Given the description of an element on the screen output the (x, y) to click on. 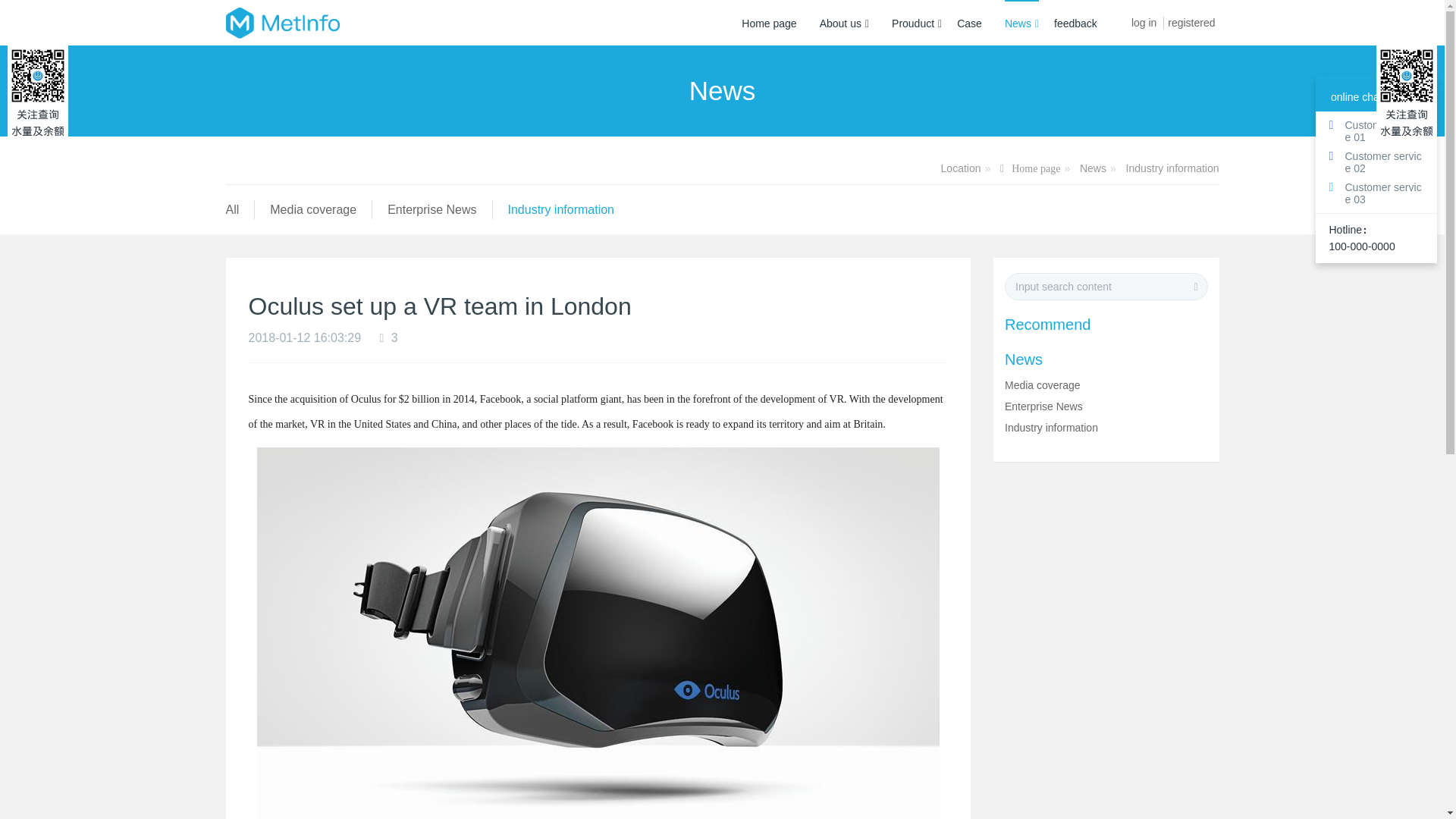
About us (844, 22)
All (232, 209)
log in (1143, 15)
Website Name (282, 22)
News (1093, 168)
feedback (1075, 22)
All (232, 209)
Home page (1029, 168)
Case (968, 22)
Home page (1029, 168)
Home page (768, 22)
Prouduct (916, 22)
Industry information (1172, 168)
Industry information (1172, 168)
Home page (768, 22)
